Given the description of an element on the screen output the (x, y) to click on. 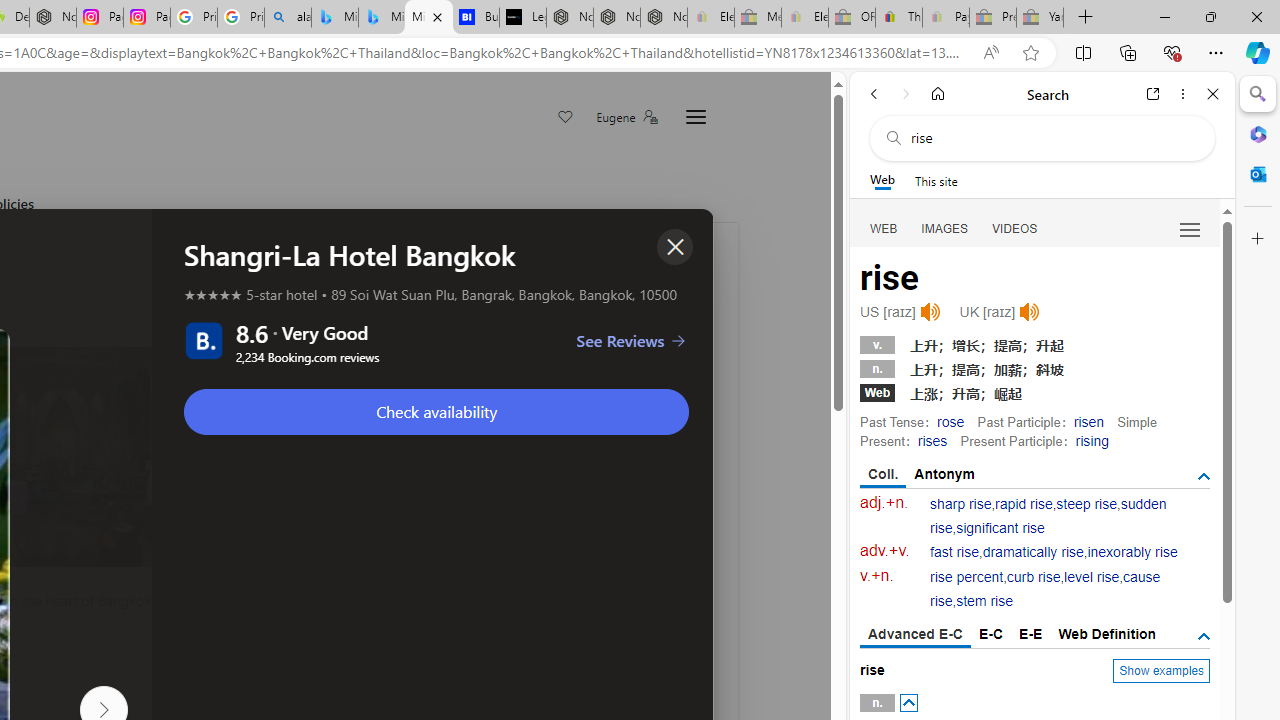
E-C (991, 633)
AutomationID: tgdef (1203, 636)
significant rise (1000, 528)
fast rise (955, 552)
rapid rise (1023, 503)
